Given the description of an element on the screen output the (x, y) to click on. 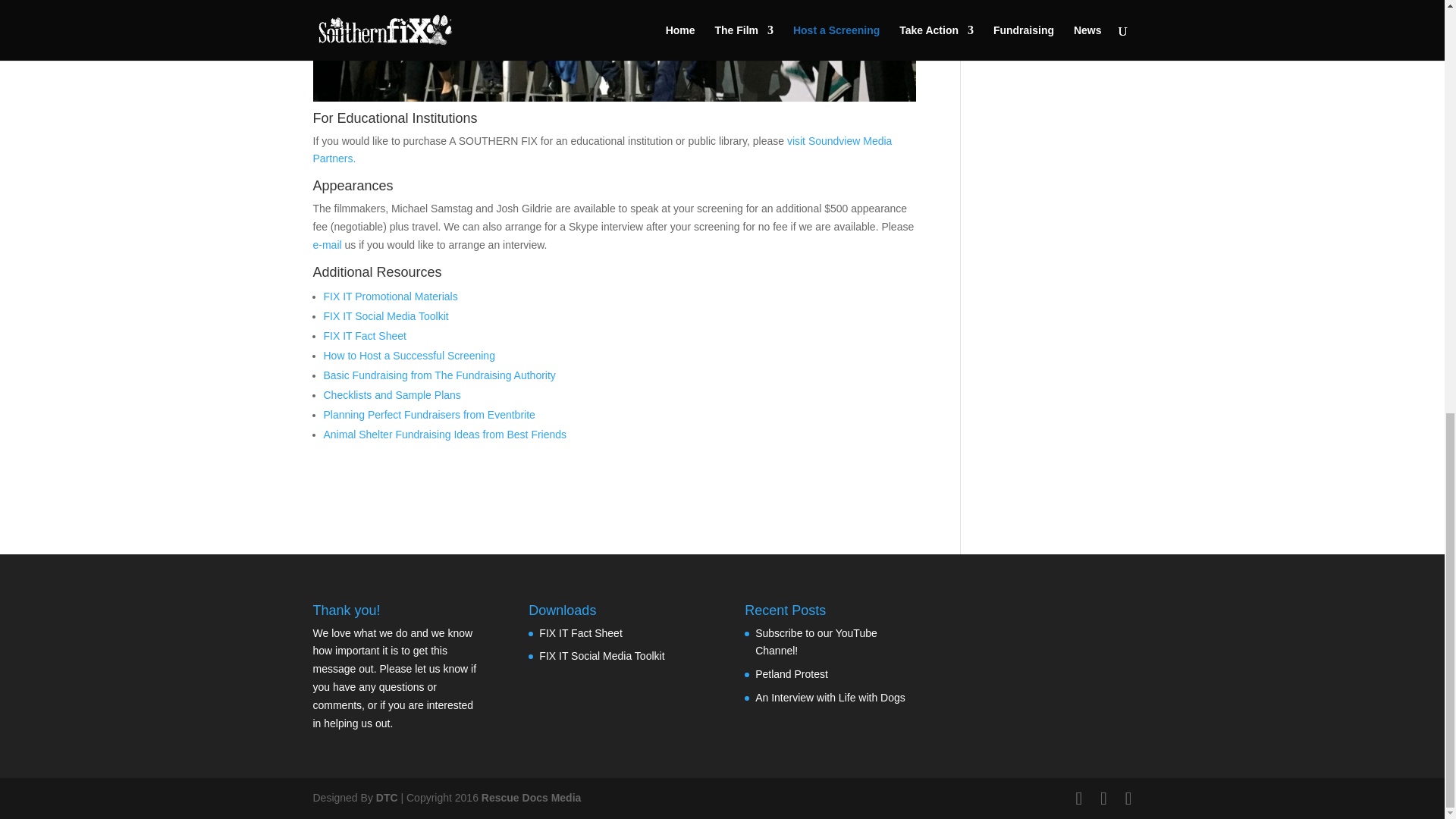
visit Soundview Media Partners. (602, 150)
FIX IT Promotional Materials (390, 296)
e-mail (326, 244)
FIX IT Fact Sheet (364, 336)
How to Host a Successful Screening (409, 355)
FIX IT Social Media Toolkit (385, 316)
